Given the description of an element on the screen output the (x, y) to click on. 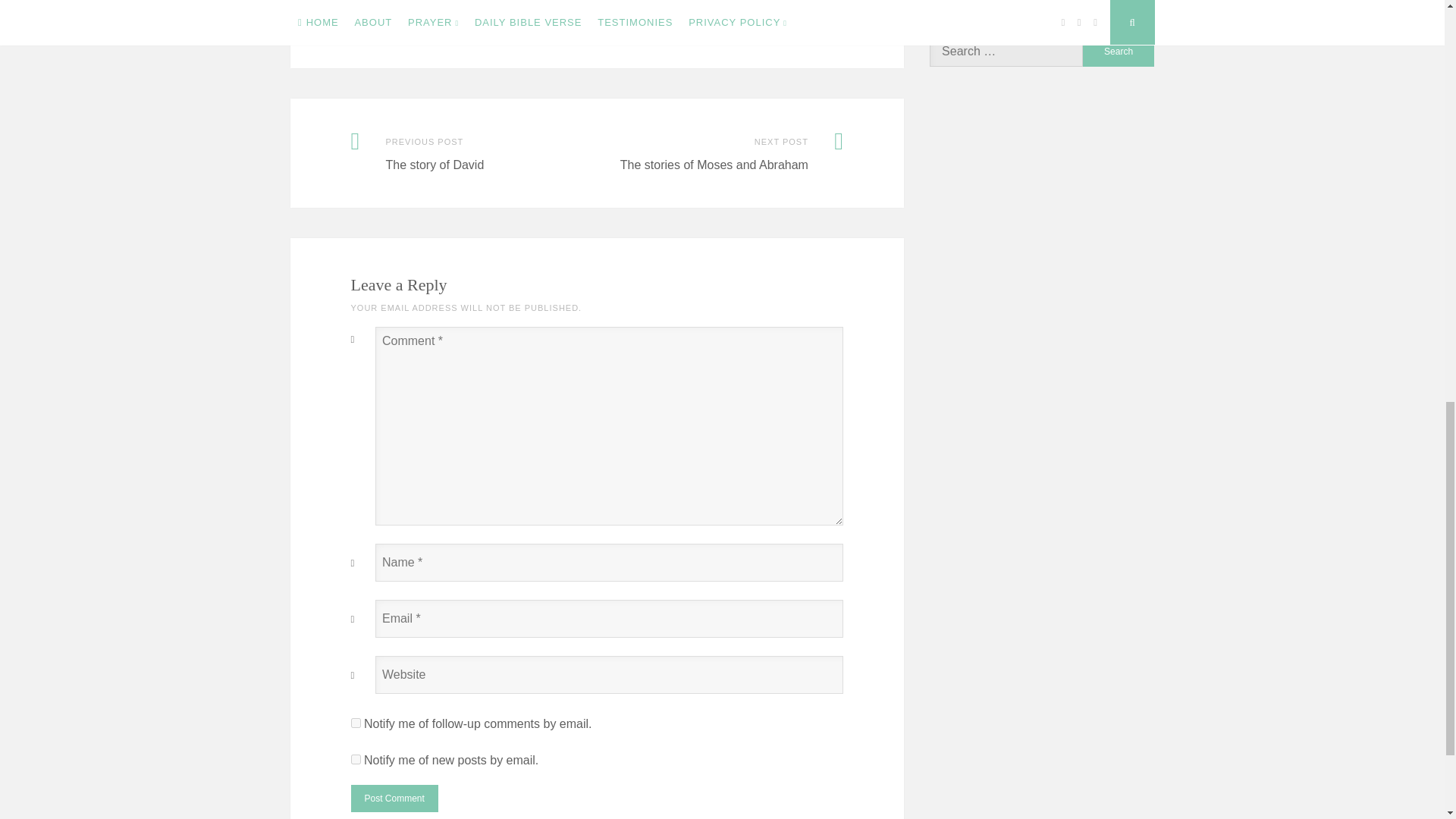
subscribe (354, 759)
Post Comment (394, 798)
Search (1118, 51)
BUILD AN ARK (391, 31)
PROSTITUTE (530, 31)
RAHAB (583, 31)
Post Comment (394, 798)
Search (1118, 51)
NOAH (481, 31)
subscribe (354, 723)
JESUS (445, 31)
Search (1118, 51)
